Given the description of an element on the screen output the (x, y) to click on. 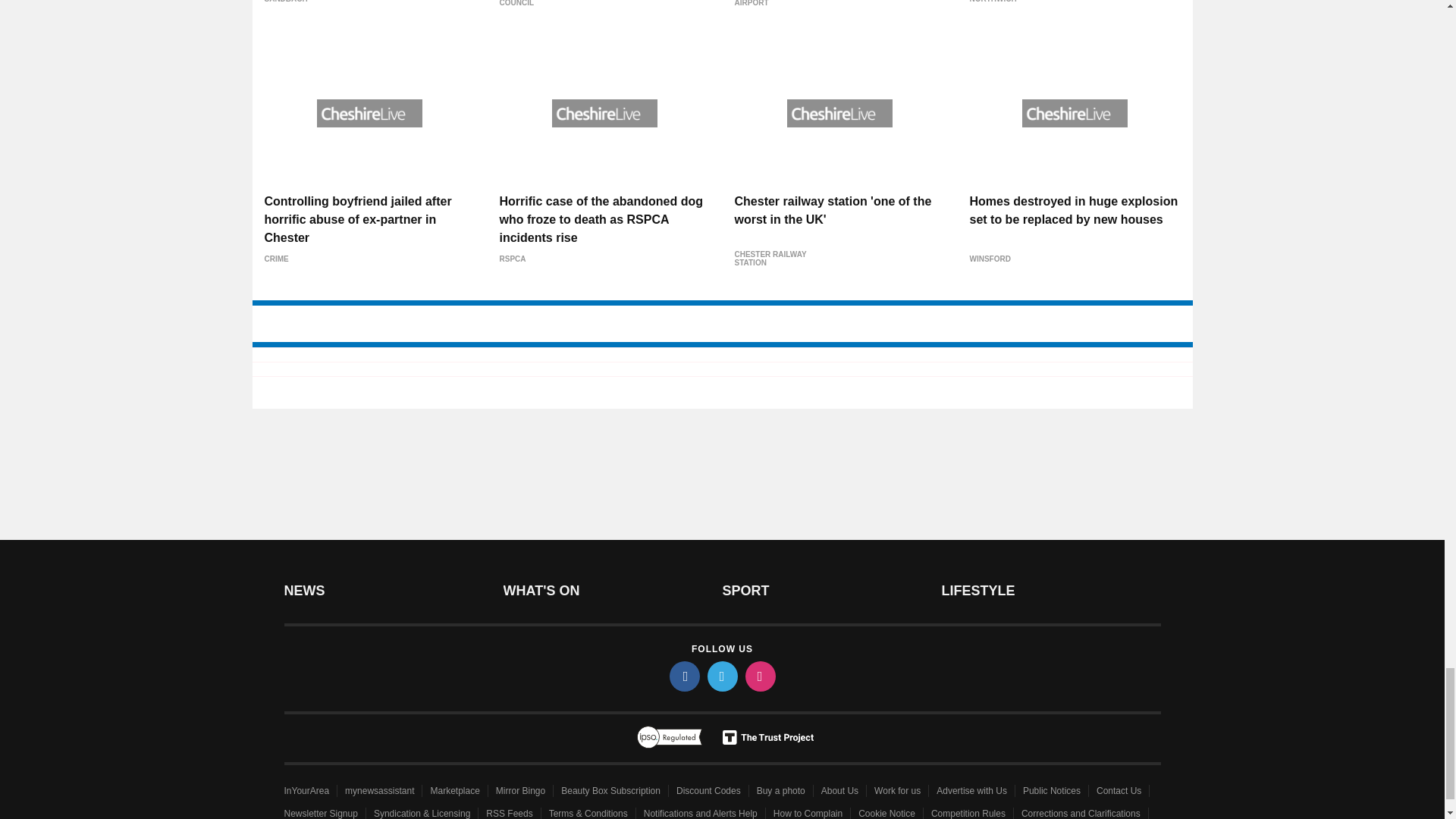
facebook (683, 675)
twitter (721, 675)
